Given the description of an element on the screen output the (x, y) to click on. 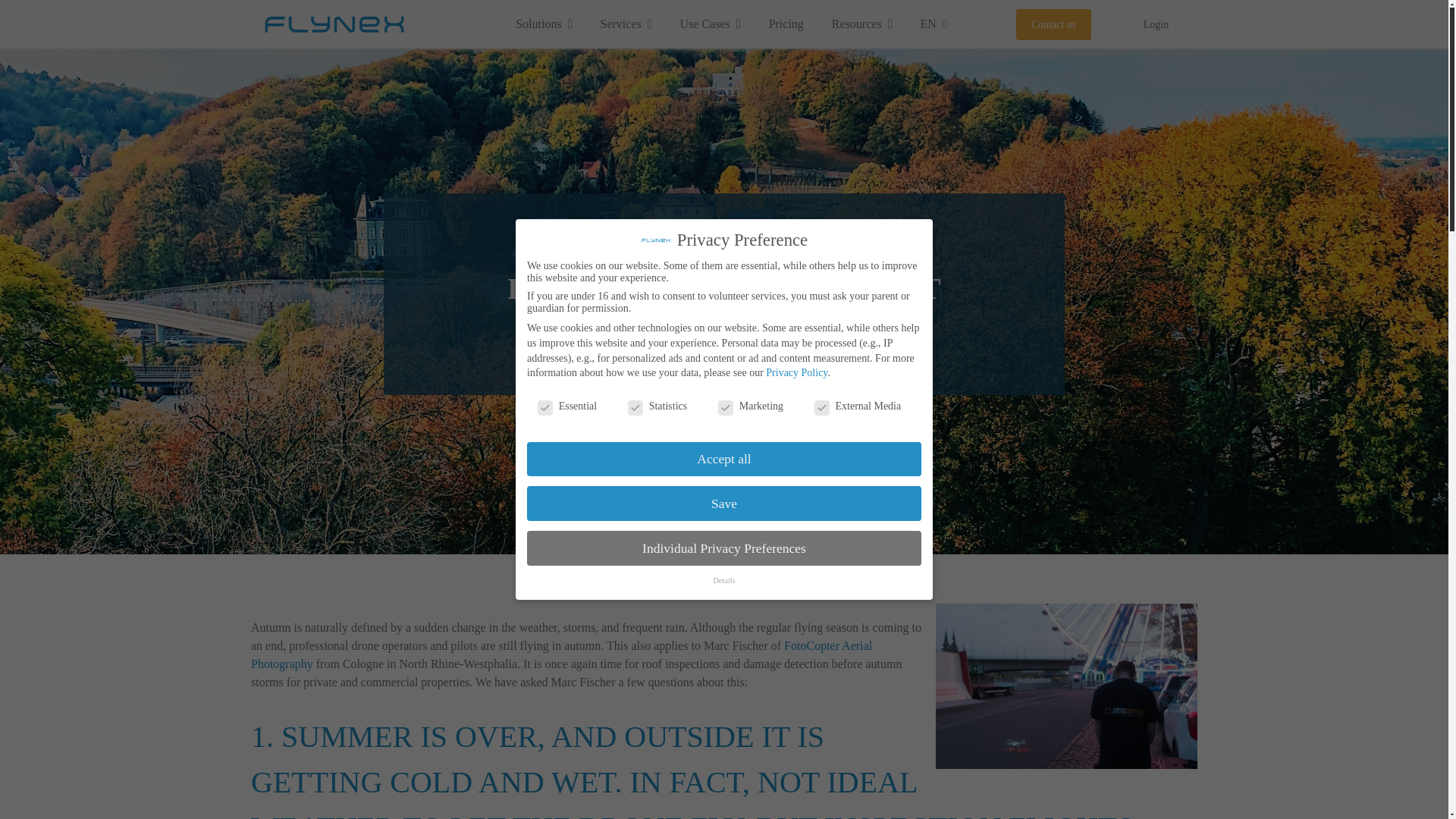
Use Cases (710, 24)
Solutions (543, 24)
Services (624, 24)
Login (1155, 24)
Resources (861, 24)
FotoCopter Aerial Photography (561, 654)
Contact us (1054, 24)
